Given the description of an element on the screen output the (x, y) to click on. 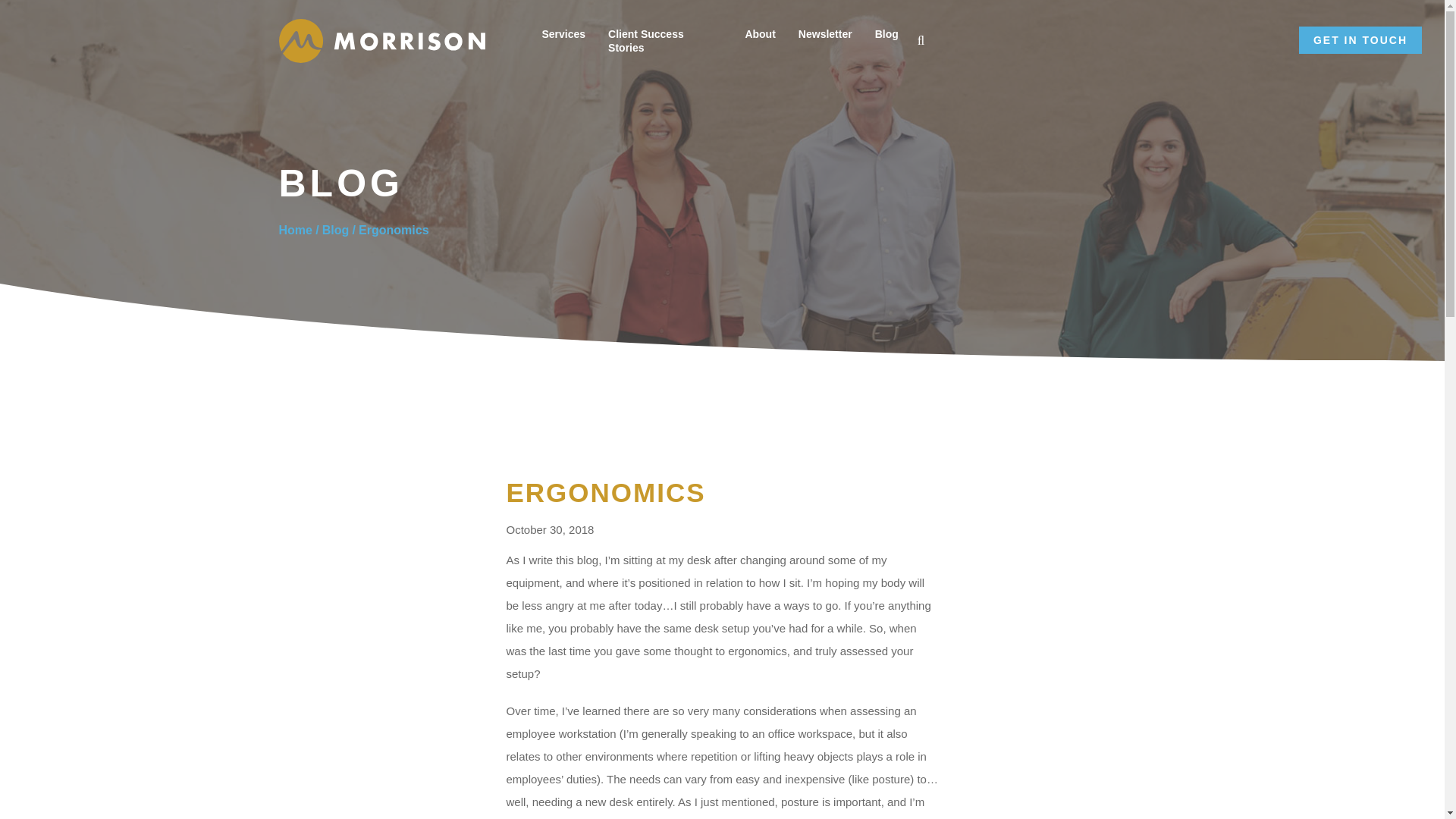
Blog (886, 33)
Home (296, 230)
GET IN TOUCH (1360, 40)
Client Success Stories (665, 40)
Blog (335, 230)
About (759, 33)
Services (563, 33)
Newsletter (824, 33)
